Given the description of an element on the screen output the (x, y) to click on. 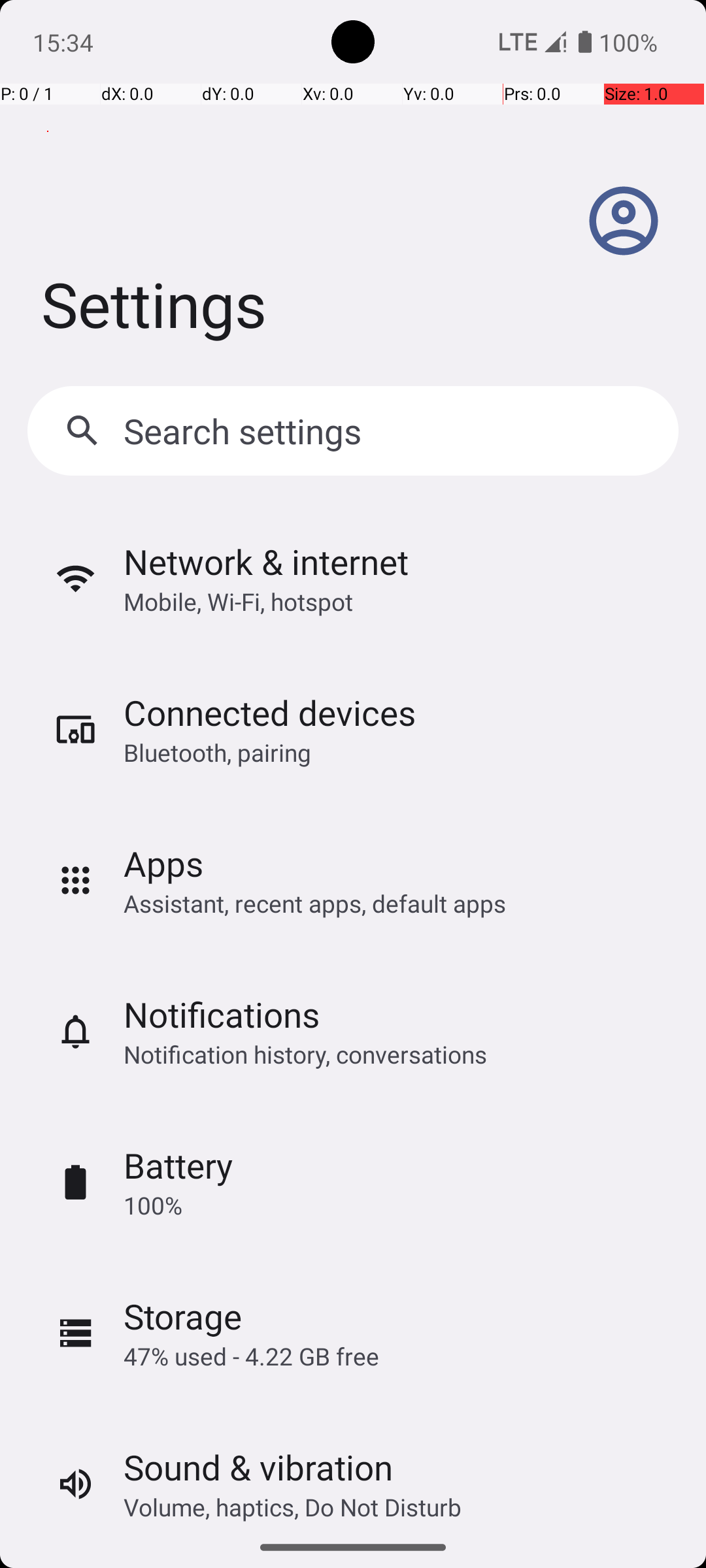
47% used - 4.22 GB free Element type: android.widget.TextView (251, 1355)
